Given the description of an element on the screen output the (x, y) to click on. 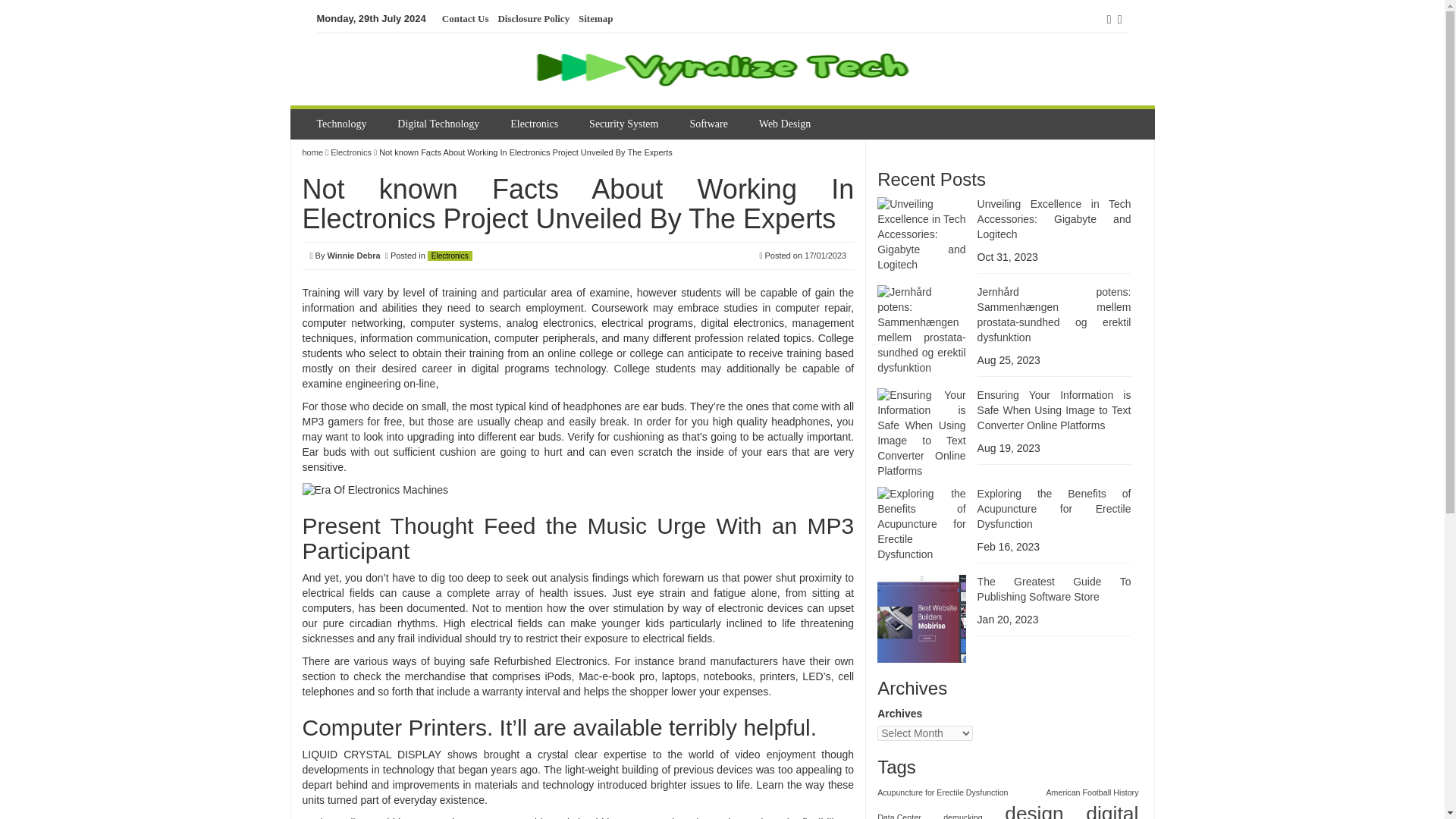
design (1033, 809)
Electronics (535, 123)
Digital Technology (440, 123)
Web Design (786, 123)
Contact Us (465, 19)
digital (1112, 809)
American Football History (1091, 792)
Security System (624, 123)
Technology (343, 123)
Software (710, 123)
